Given the description of an element on the screen output the (x, y) to click on. 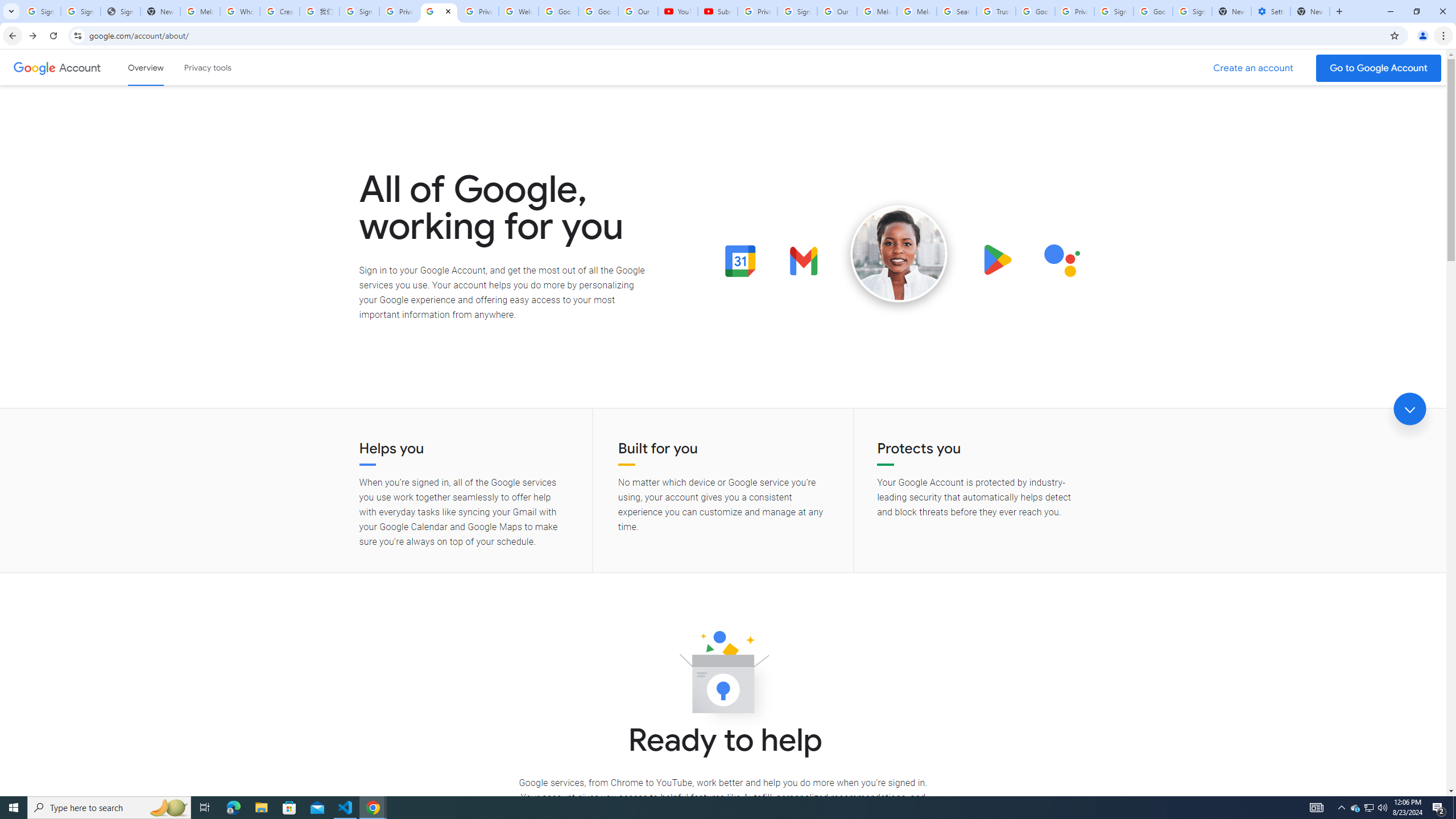
Sign In - USA TODAY (120, 11)
Search our Doodle Library Collection - Google Doodles (956, 11)
Trusted Information and Content - Google Safety Center (995, 11)
Sign in - Google Accounts (1113, 11)
Sign in - Google Accounts (80, 11)
Create your Google Account (279, 11)
Welcome to My Activity (518, 11)
